Given the description of an element on the screen output the (x, y) to click on. 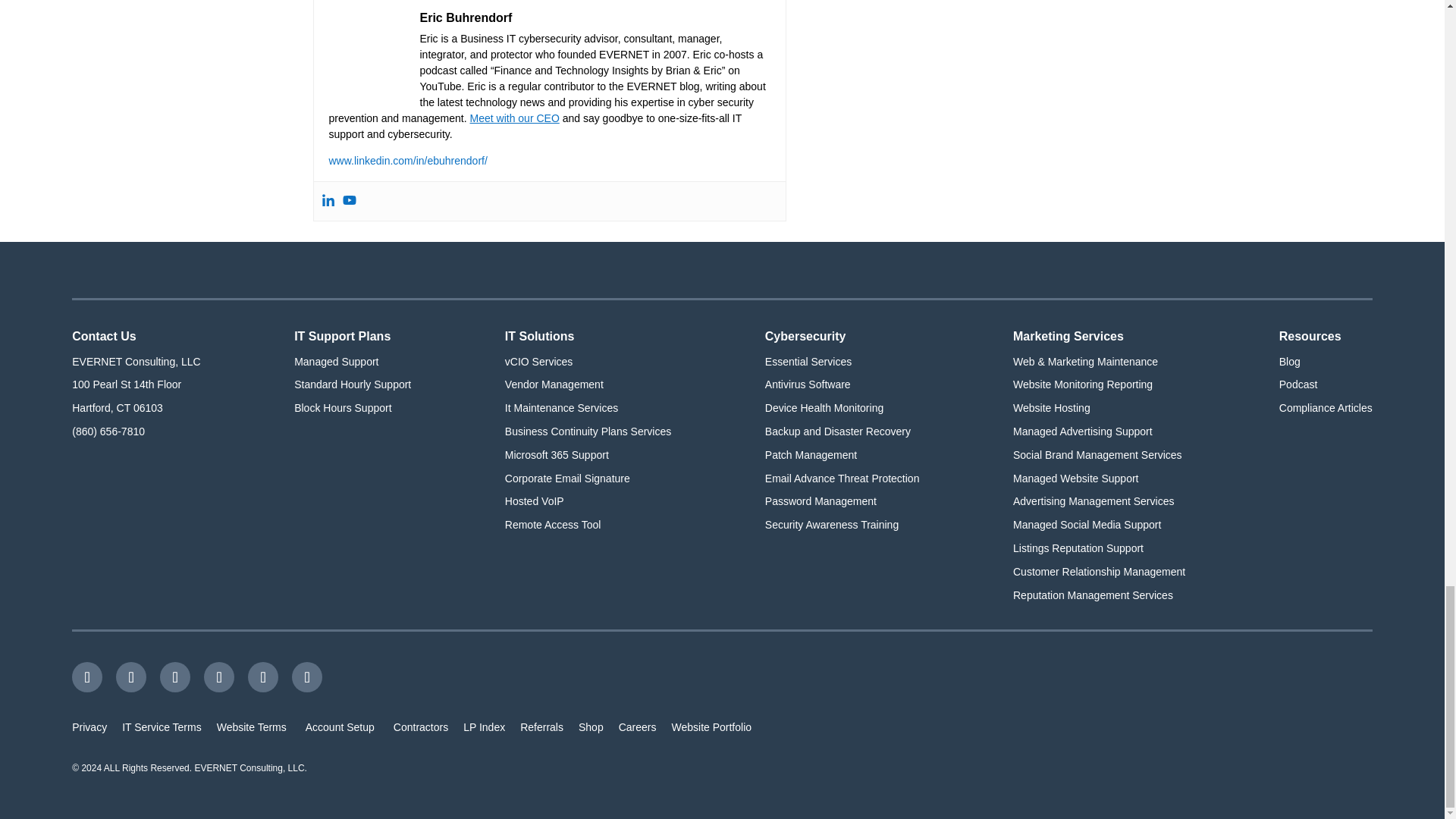
Follow on X (131, 676)
Meet with our CEO (514, 118)
Follow on TikTok (306, 676)
Eric Buhrendorf (466, 17)
Linkedin (327, 201)
Follow on Youtube (262, 676)
Follow on Instagram (175, 676)
Follow on Facebook (86, 676)
Youtube (349, 201)
Follow on LinkedIn (218, 676)
